Given the description of an element on the screen output the (x, y) to click on. 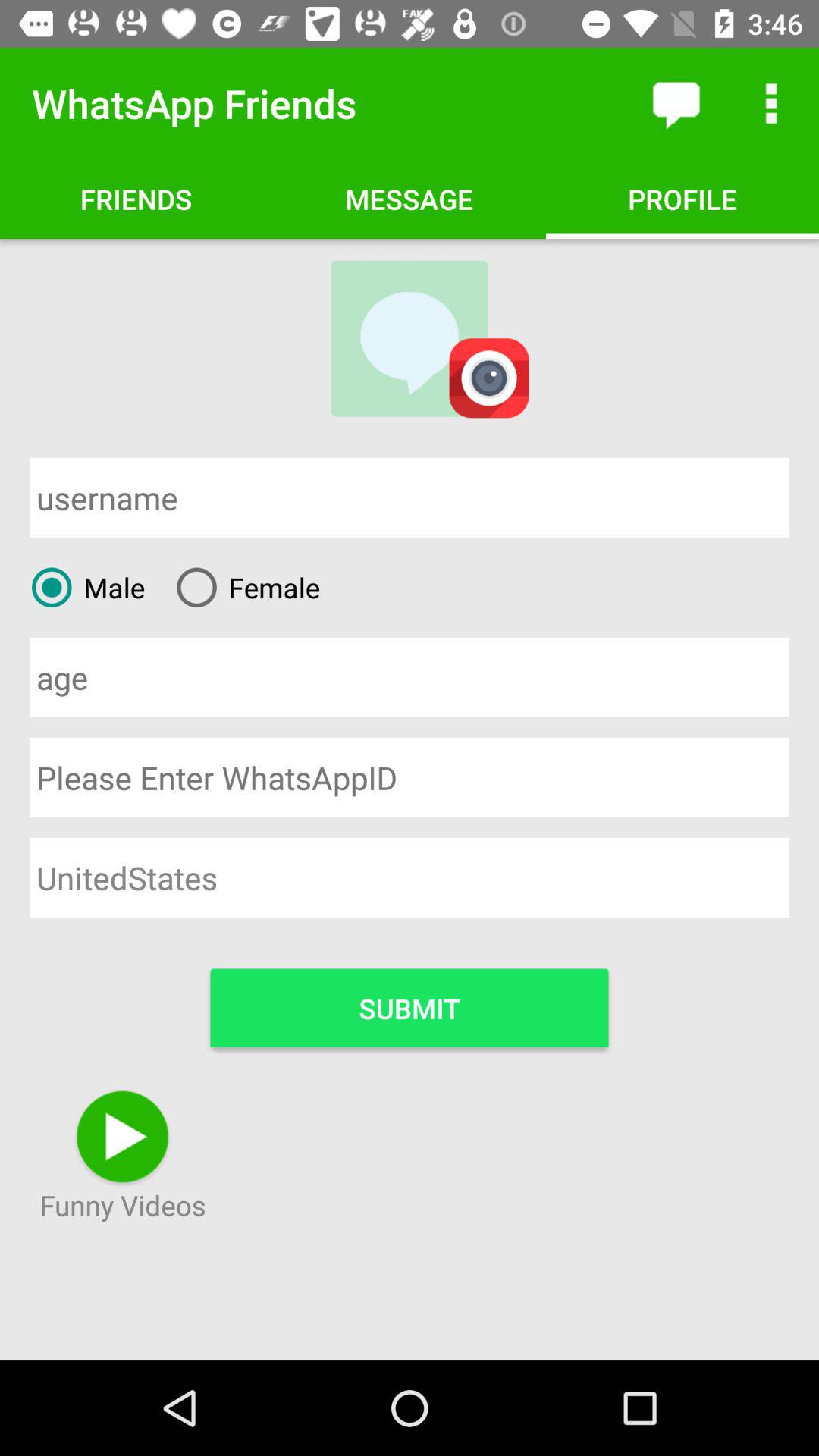
input username (409, 497)
